Given the description of an element on the screen output the (x, y) to click on. 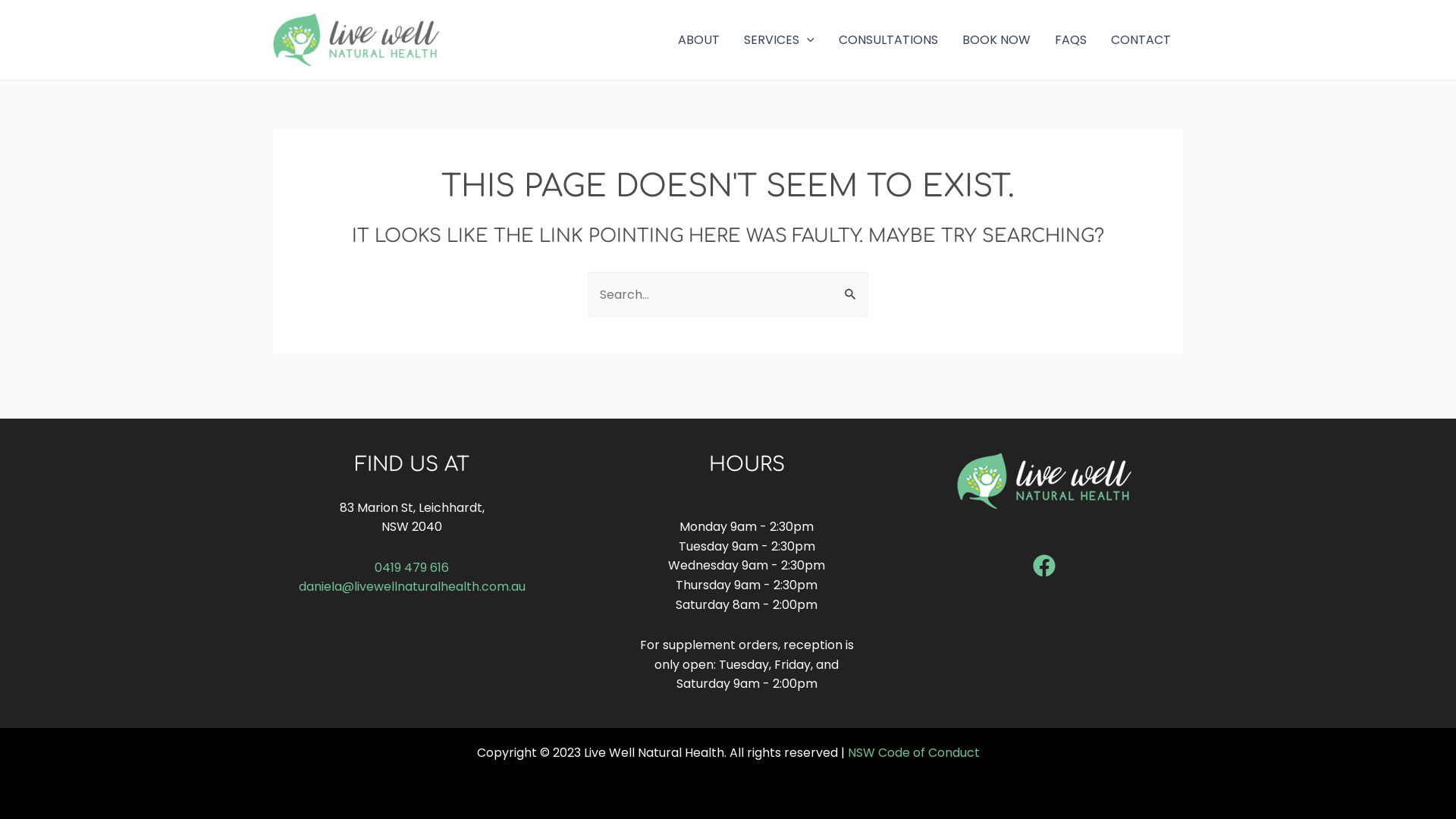
NSW Code of Conduct Element type: text (913, 752)
0419 479 616 Element type: text (411, 567)
FAQS Element type: text (1070, 39)
Search Element type: text (851, 288)
BOOK NOW Element type: text (996, 39)
CONTACT Element type: text (1140, 39)
ABOUT Element type: text (698, 39)
SERVICES Element type: text (778, 39)
daniela@livewellnaturalhealth.com.au Element type: text (411, 586)
CONSULTATIONS Element type: text (888, 39)
